Given the description of an element on the screen output the (x, y) to click on. 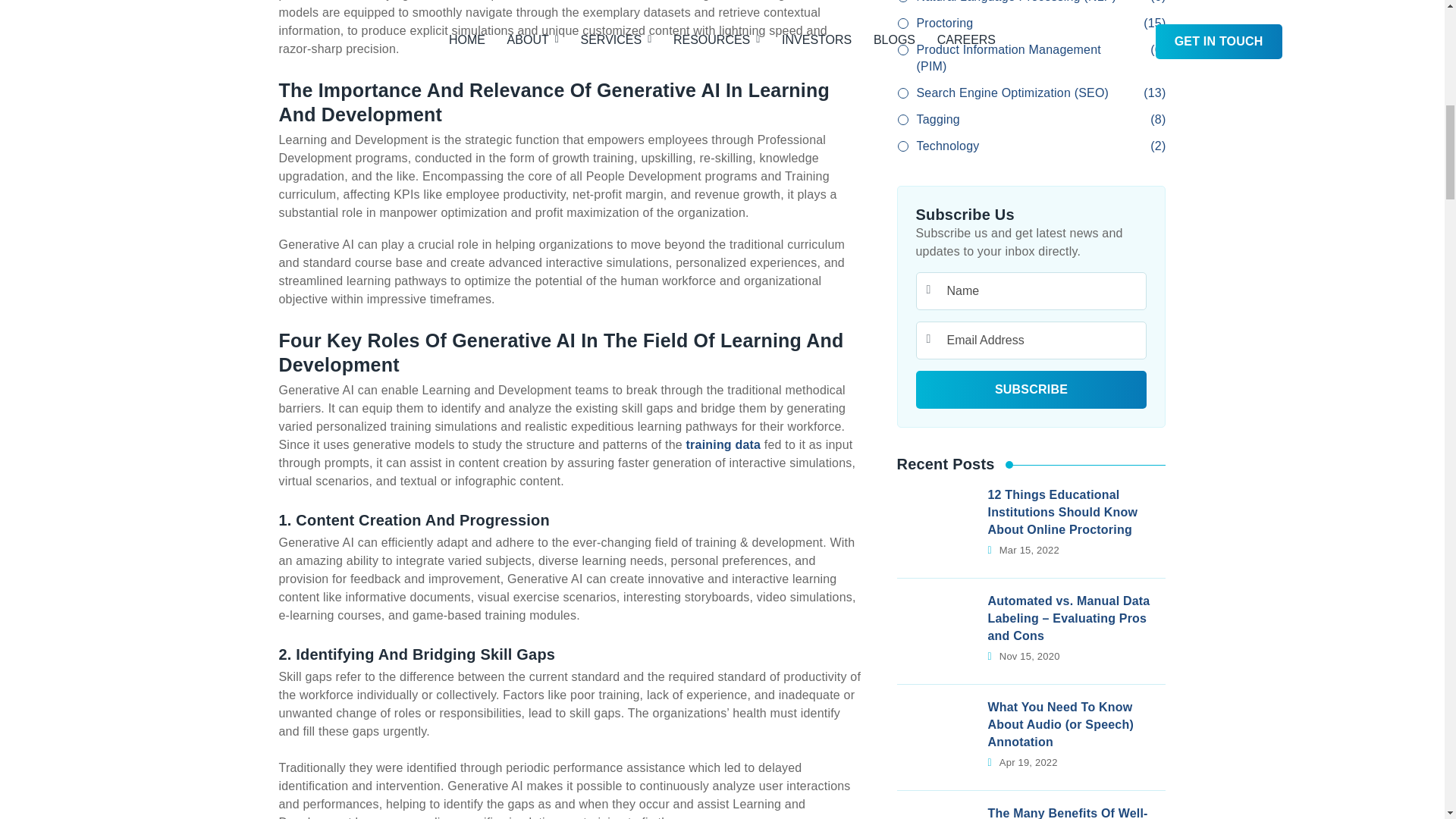
Subscribe (1031, 389)
